Given the description of an element on the screen output the (x, y) to click on. 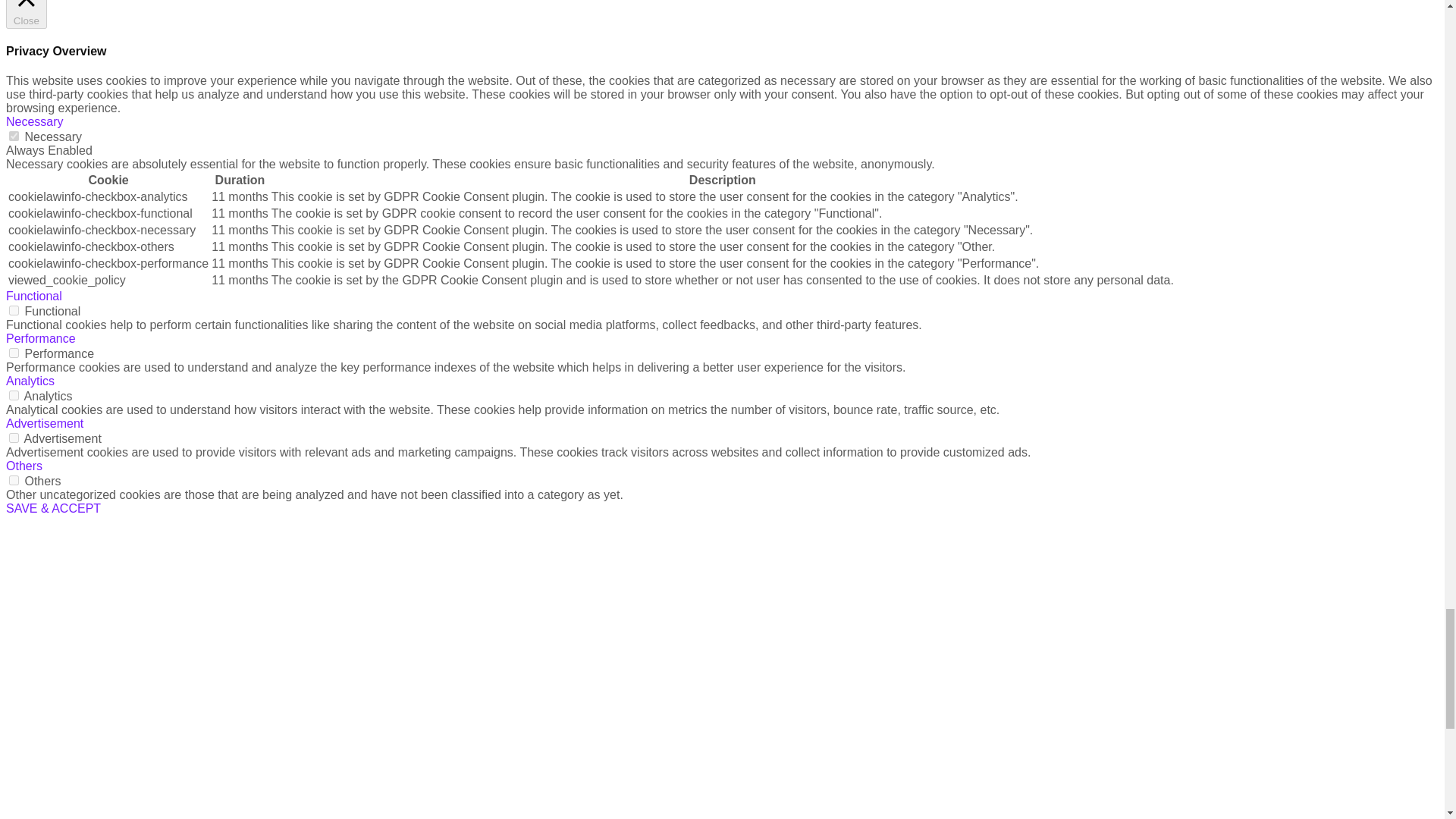
on (13, 395)
on (13, 480)
on (13, 135)
on (13, 438)
on (13, 310)
on (13, 352)
